Given the description of an element on the screen output the (x, y) to click on. 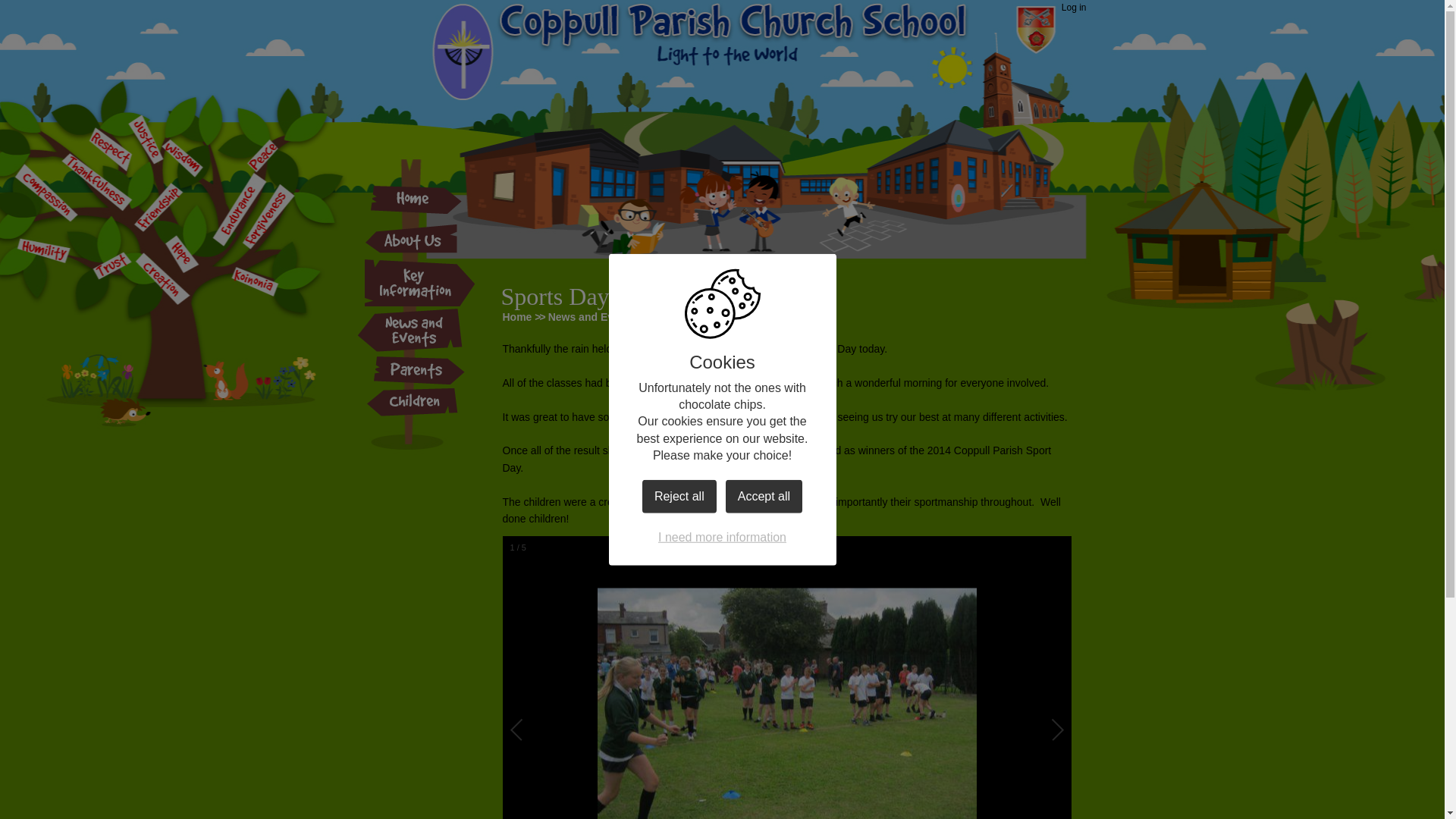
Sports Day (757, 316)
Latest News (681, 316)
About Us (413, 238)
Home (516, 316)
Home (413, 199)
Log in (1073, 8)
News and Events (591, 316)
Key Information (416, 284)
